Given the description of an element on the screen output the (x, y) to click on. 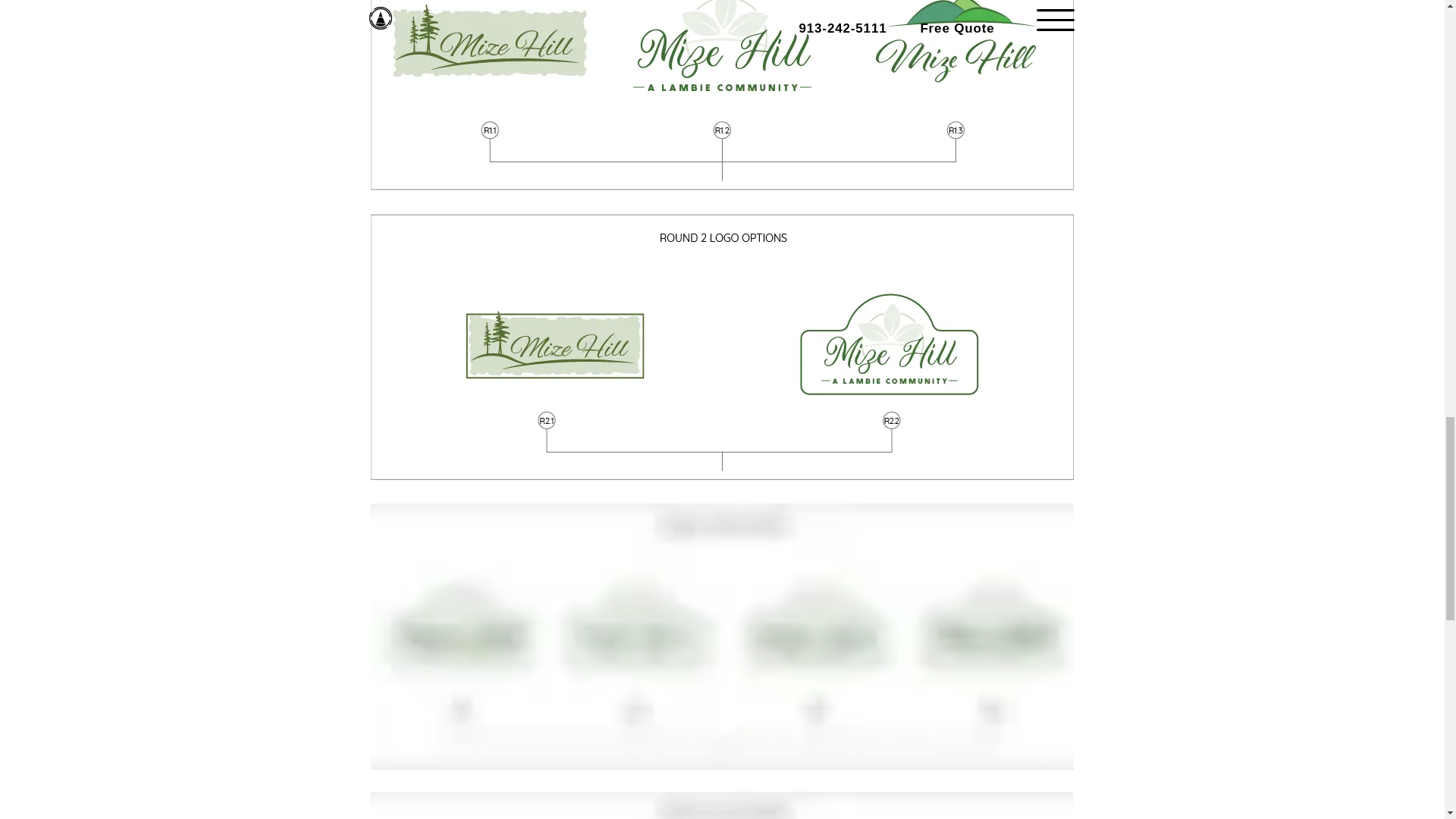
New Trails-Pattern.jpg (721, 805)
New Trails-Pattern.jpg (721, 95)
